Given the description of an element on the screen output the (x, y) to click on. 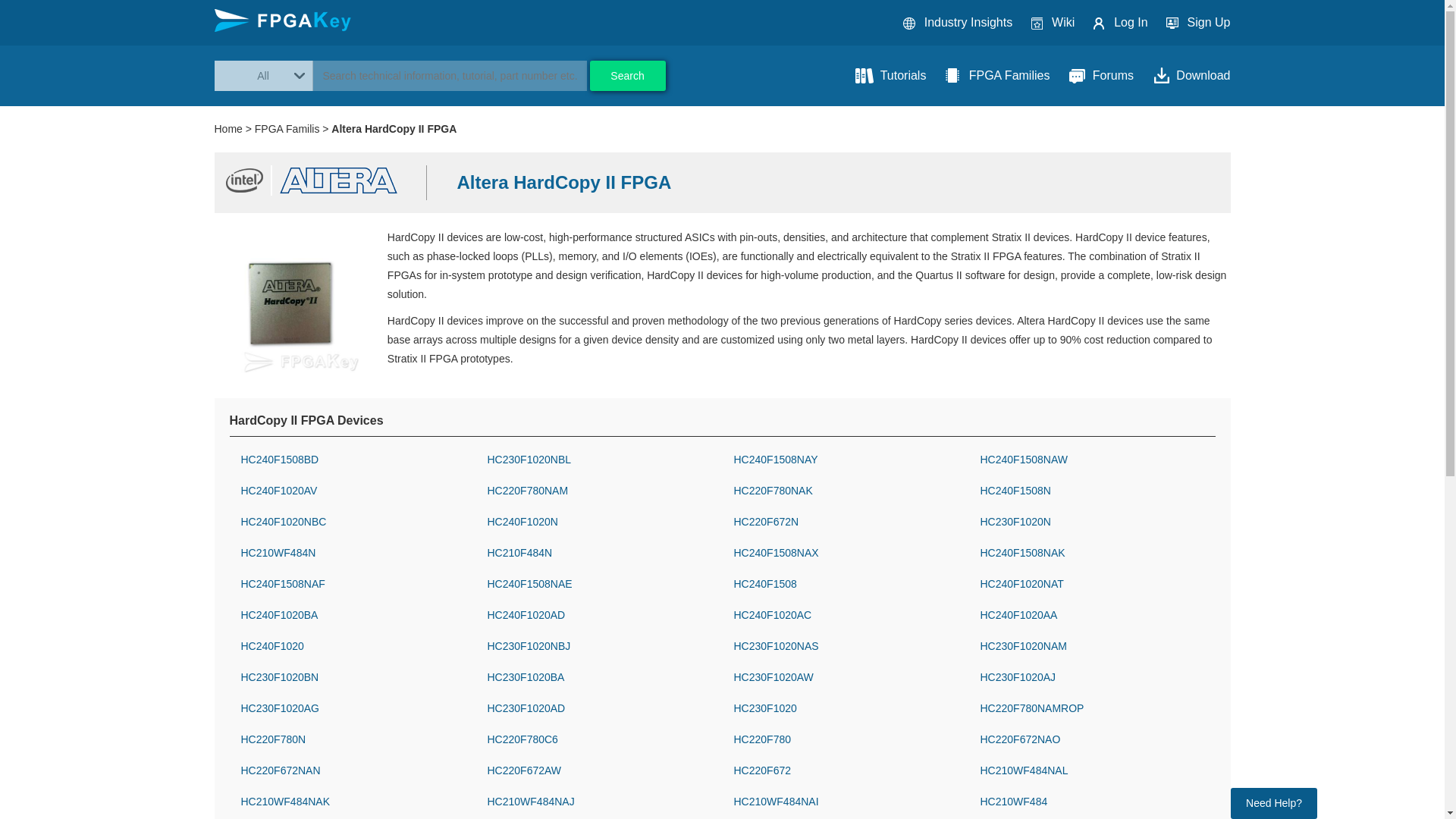
HC210WF484N (352, 553)
HC230F1020NBL (598, 459)
HC220F780NAM (598, 490)
HC240F1508NAX (845, 553)
HC240F1020N (598, 521)
HC240F1508NAY (845, 459)
HC220F780NAM (598, 490)
HC230F1020NBL (598, 459)
Search (627, 75)
HC240F1020AV (352, 490)
